Given the description of an element on the screen output the (x, y) to click on. 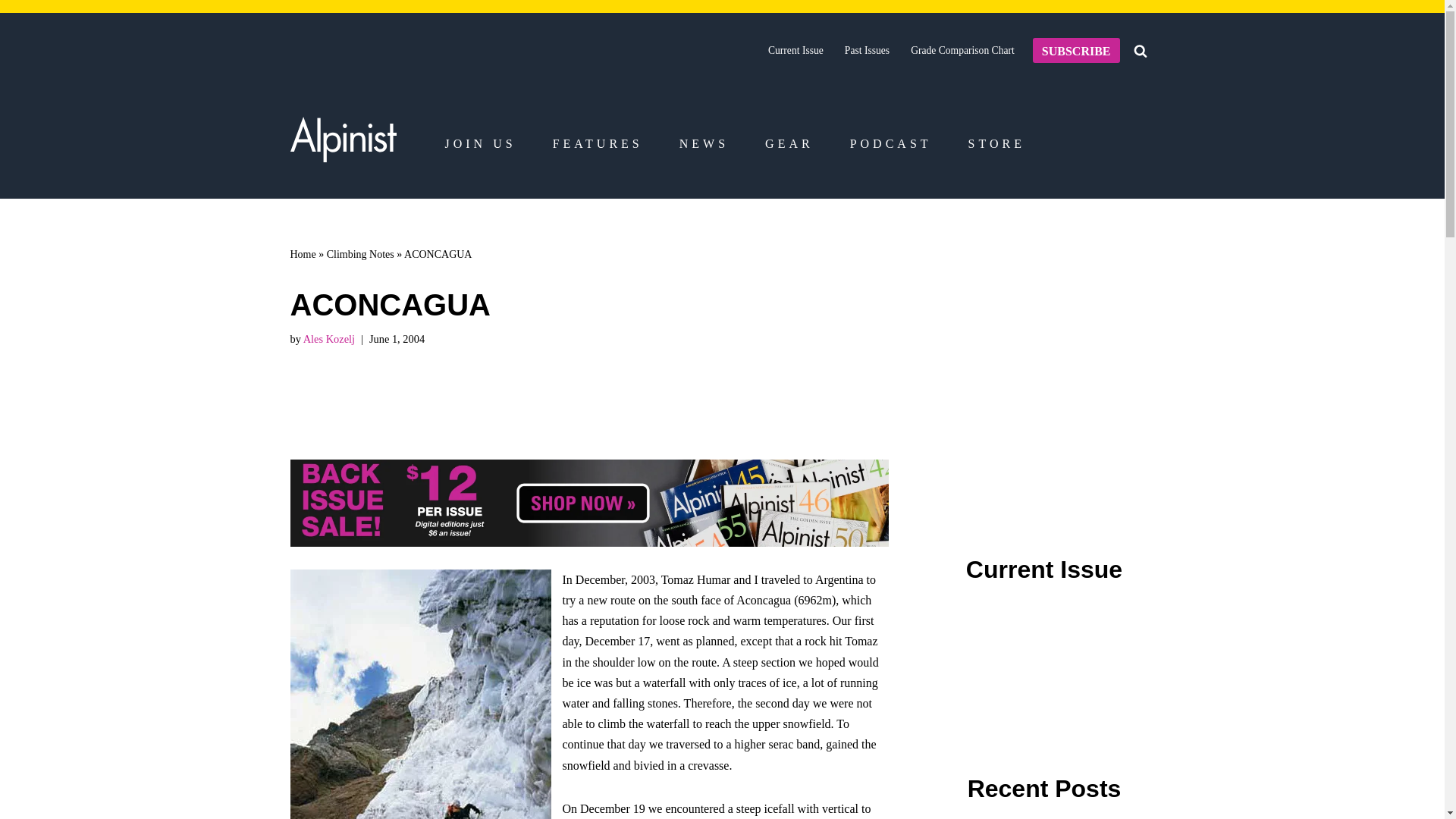
Past Issues (866, 49)
SUBSCRIBE (1075, 50)
PODCAST (890, 143)
3rd party ad content (1047, 361)
FEATURES (598, 143)
Posts by Ales Kozelj (328, 338)
Ales Kozelj (328, 338)
STORE (996, 143)
Climbing Notes (360, 254)
Home (302, 254)
